Given the description of an element on the screen output the (x, y) to click on. 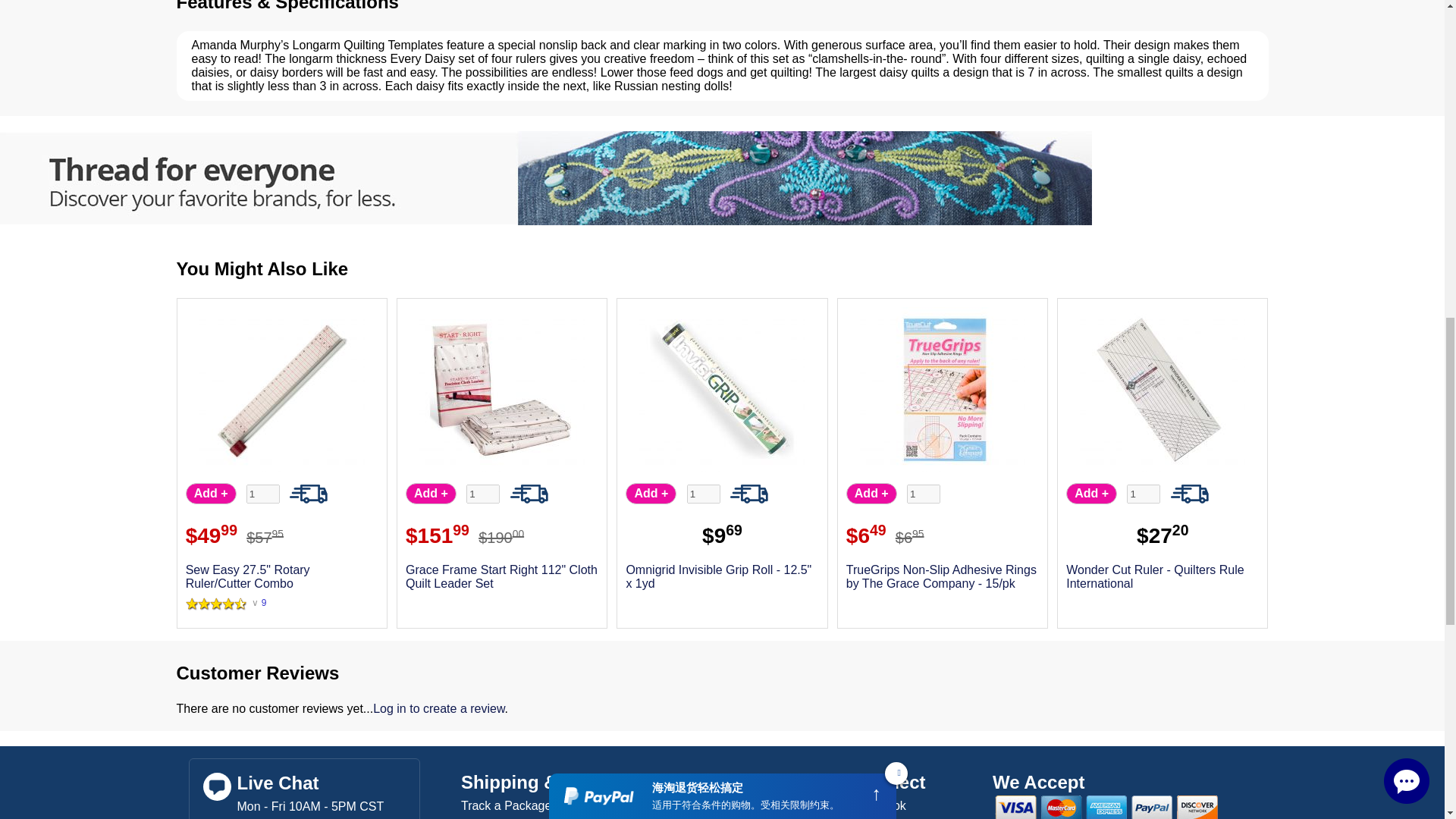
1 (923, 493)
1 (262, 493)
This item qualifies for FREE Sew 'N Saver Shipping! (749, 493)
This item qualifies for FREE Sew 'N Saver Shipping! (1189, 493)
This item qualifies for FREE Sew 'N Saver Shipping! (308, 493)
1 (1143, 493)
This item qualifies for FREE Sew 'N Saver Shipping! (529, 493)
1 (703, 493)
1 (482, 493)
